Given the description of an element on the screen output the (x, y) to click on. 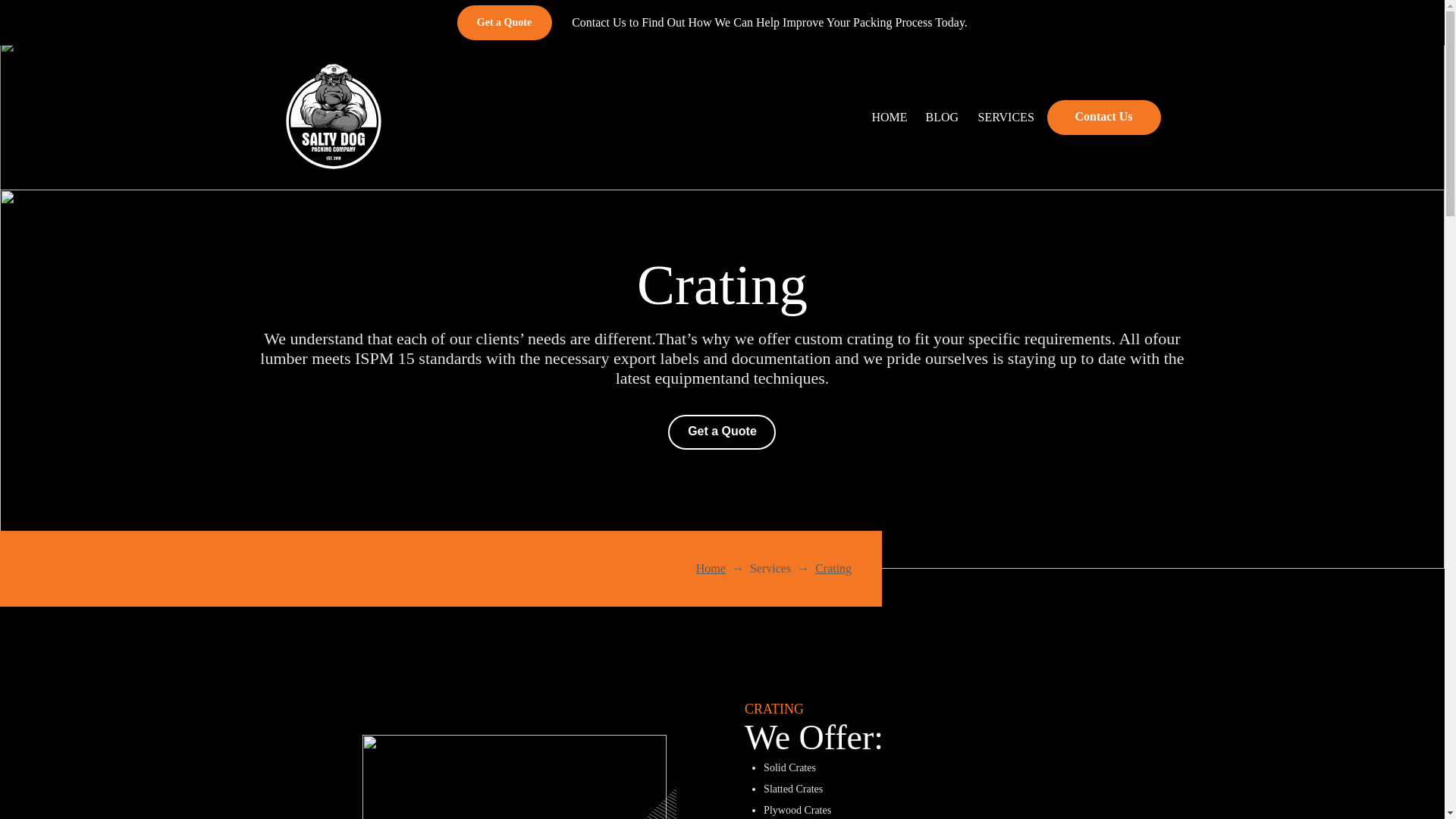
Home (710, 567)
Contact Us (1103, 117)
BLOG (940, 116)
Crating (833, 567)
Get a Quote (722, 431)
HOME (887, 116)
Get a Quote (504, 22)
